Given the description of an element on the screen output the (x, y) to click on. 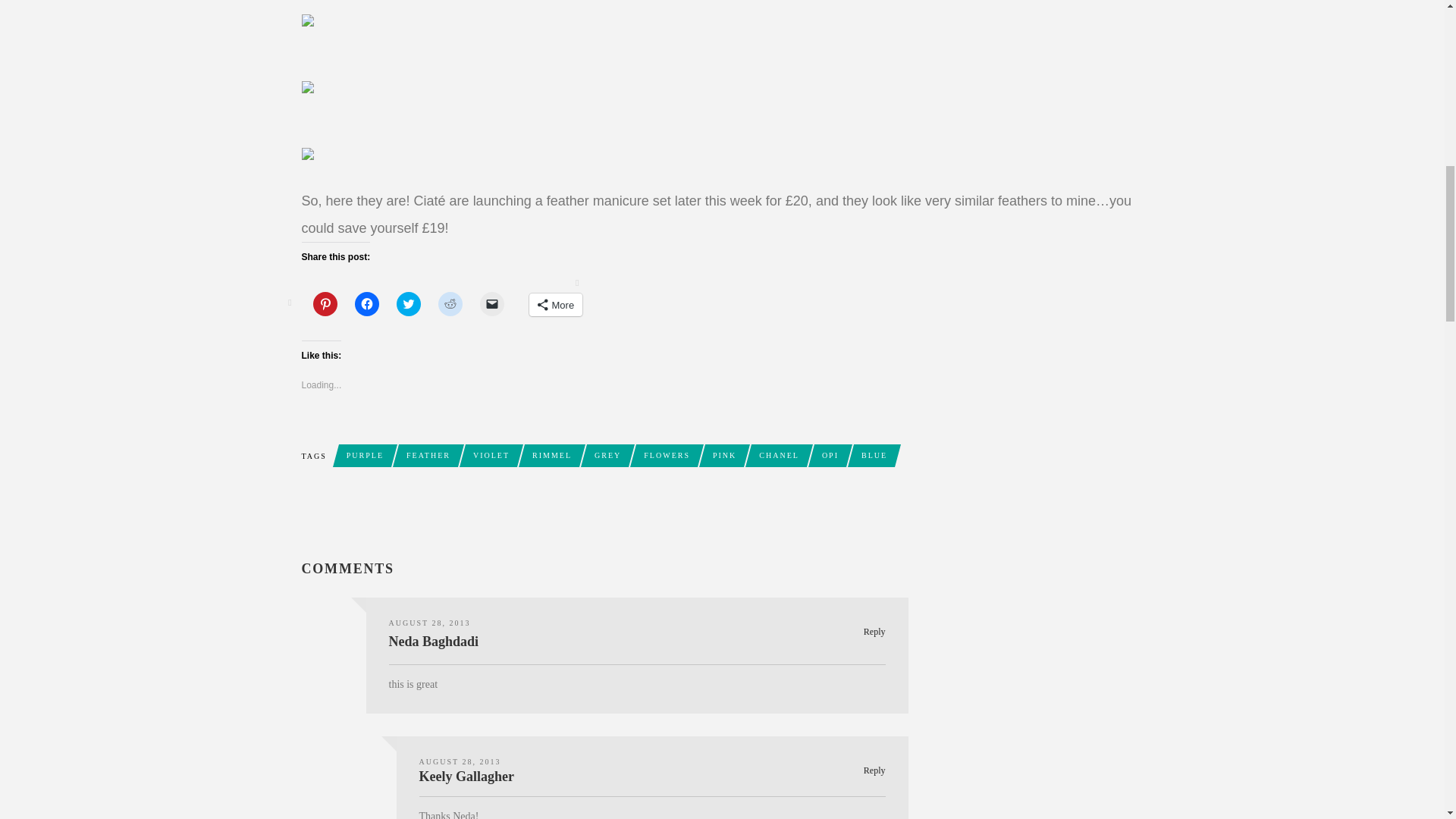
Click to share on Pinterest (324, 303)
Click to share on Twitter (408, 303)
Click to share on Reddit (450, 303)
Click to email a link to a friend (491, 303)
Click to share on Facebook (366, 303)
